Given the description of an element on the screen output the (x, y) to click on. 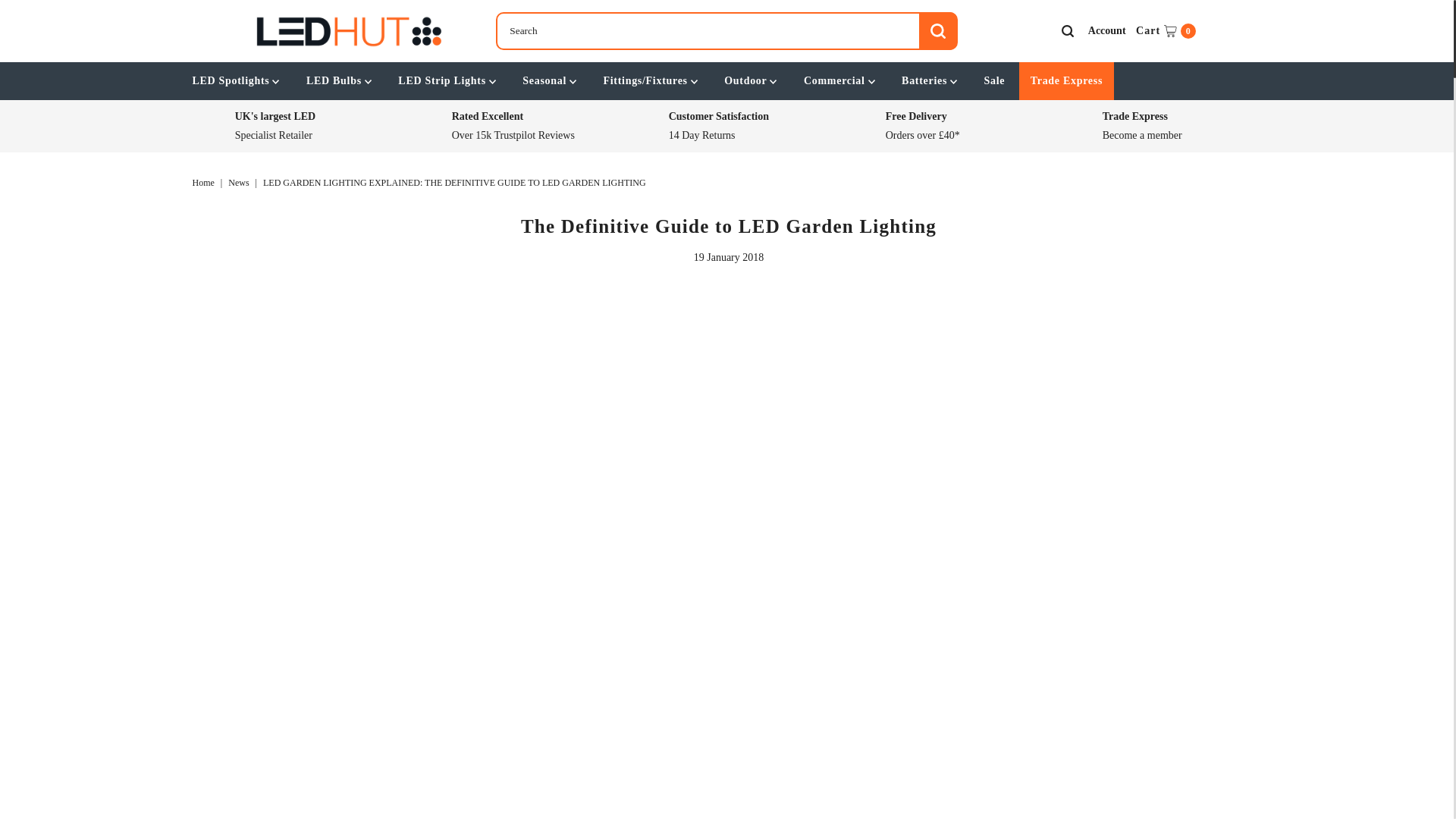
Home (205, 182)
Account (1165, 30)
LED Spotlights (1106, 30)
